Given the description of an element on the screen output the (x, y) to click on. 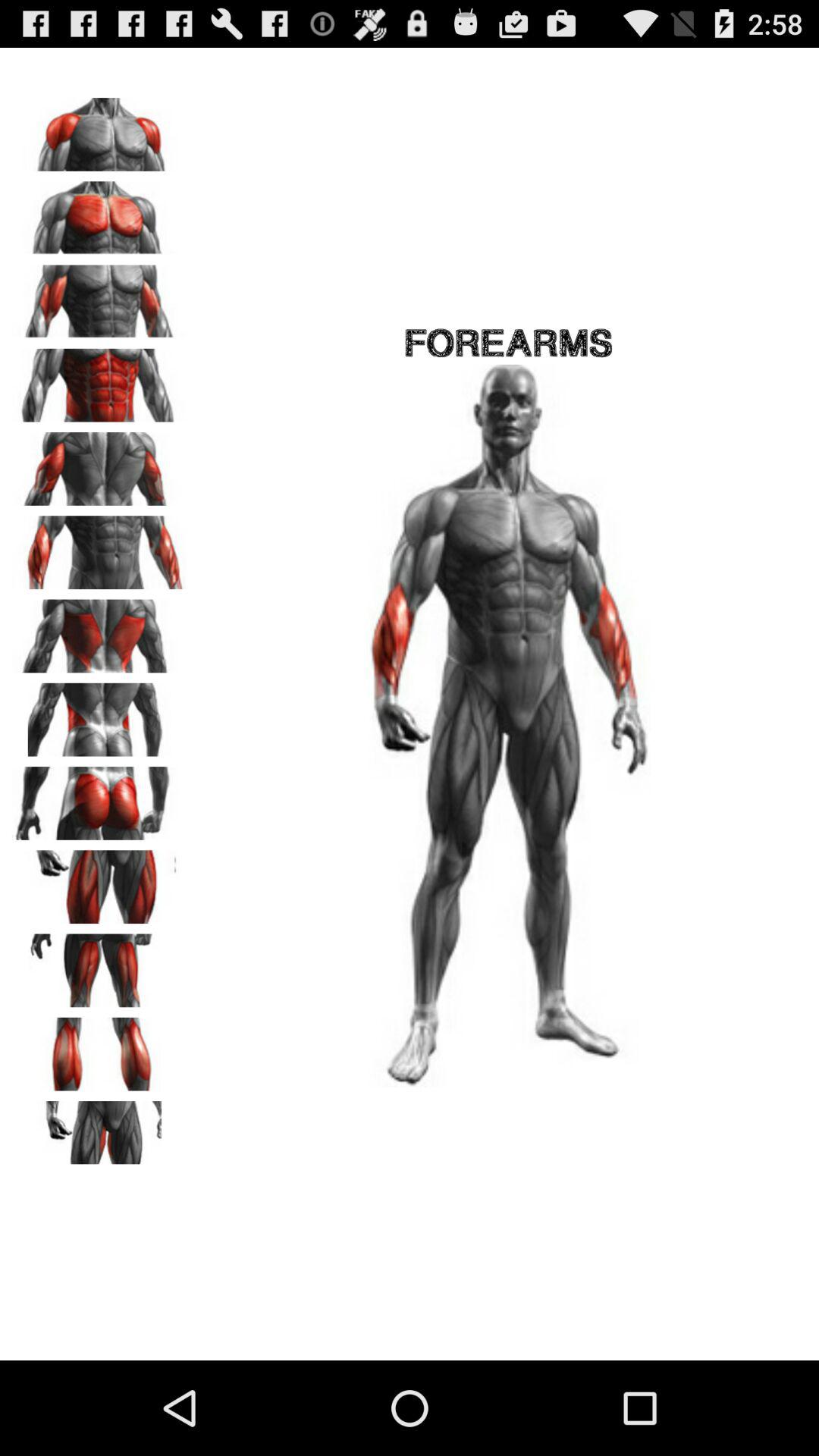
select muscle region (99, 1132)
